Given the description of an element on the screen output the (x, y) to click on. 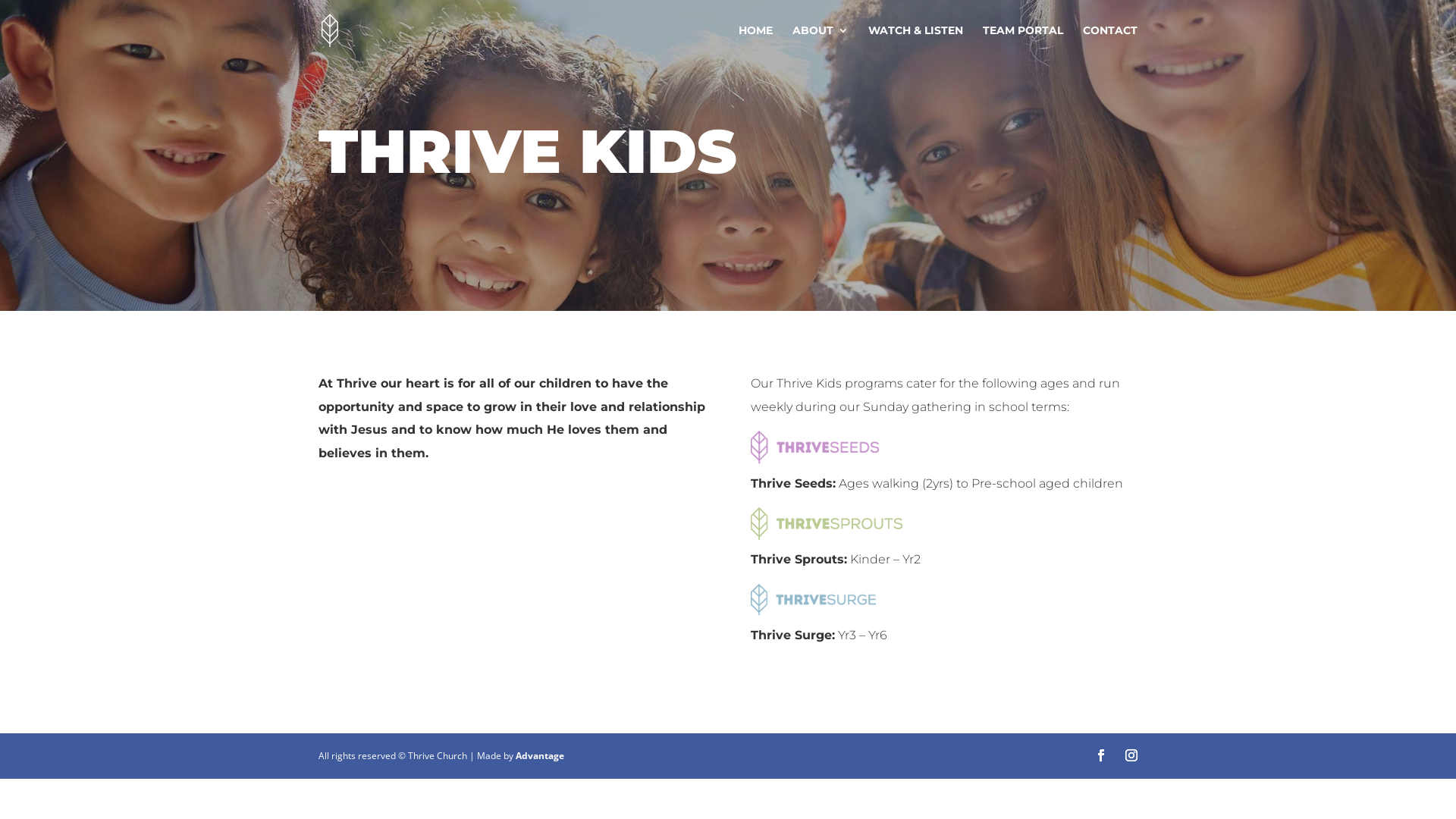
CONTACT Element type: text (1109, 42)
HOME Element type: text (755, 42)
ABOUT Element type: text (820, 42)
WATCH & LISTEN Element type: text (915, 42)
Advantage Element type: text (539, 755)
TEAM PORTAL Element type: text (1022, 42)
